Given the description of an element on the screen output the (x, y) to click on. 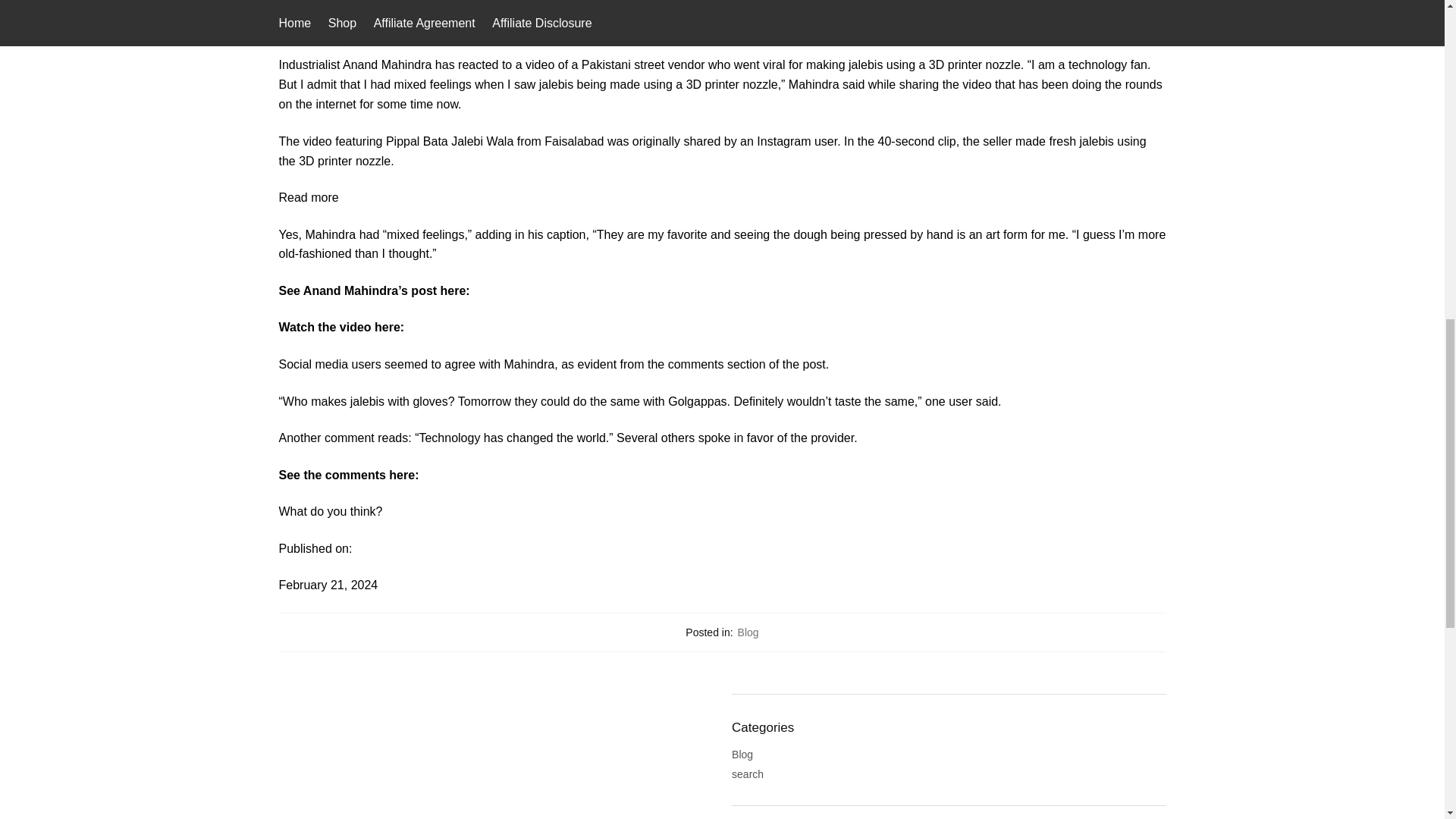
Blog (748, 632)
search (747, 774)
Blog (742, 754)
